Given the description of an element on the screen output the (x, y) to click on. 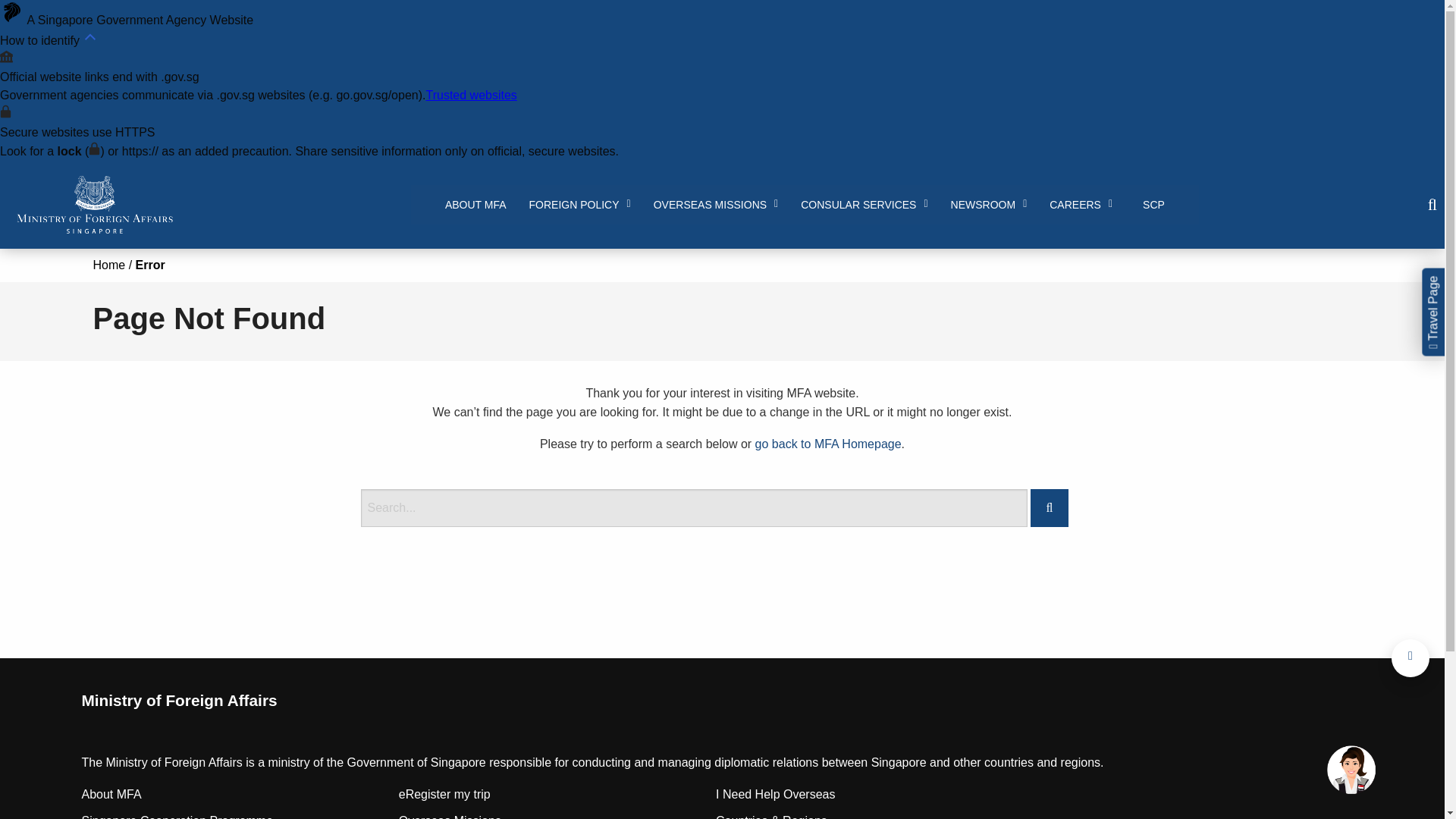
Ministry of Foreign Affairs Singapore (94, 204)
CONSULAR SERVICES (864, 204)
NEWSROOM (989, 204)
OVERSEAS MISSIONS (716, 204)
CAREERS (1081, 204)
ABOUT MFA (475, 204)
FOREIGN POLICY (580, 204)
Back to top of page (1410, 658)
